Given the description of an element on the screen output the (x, y) to click on. 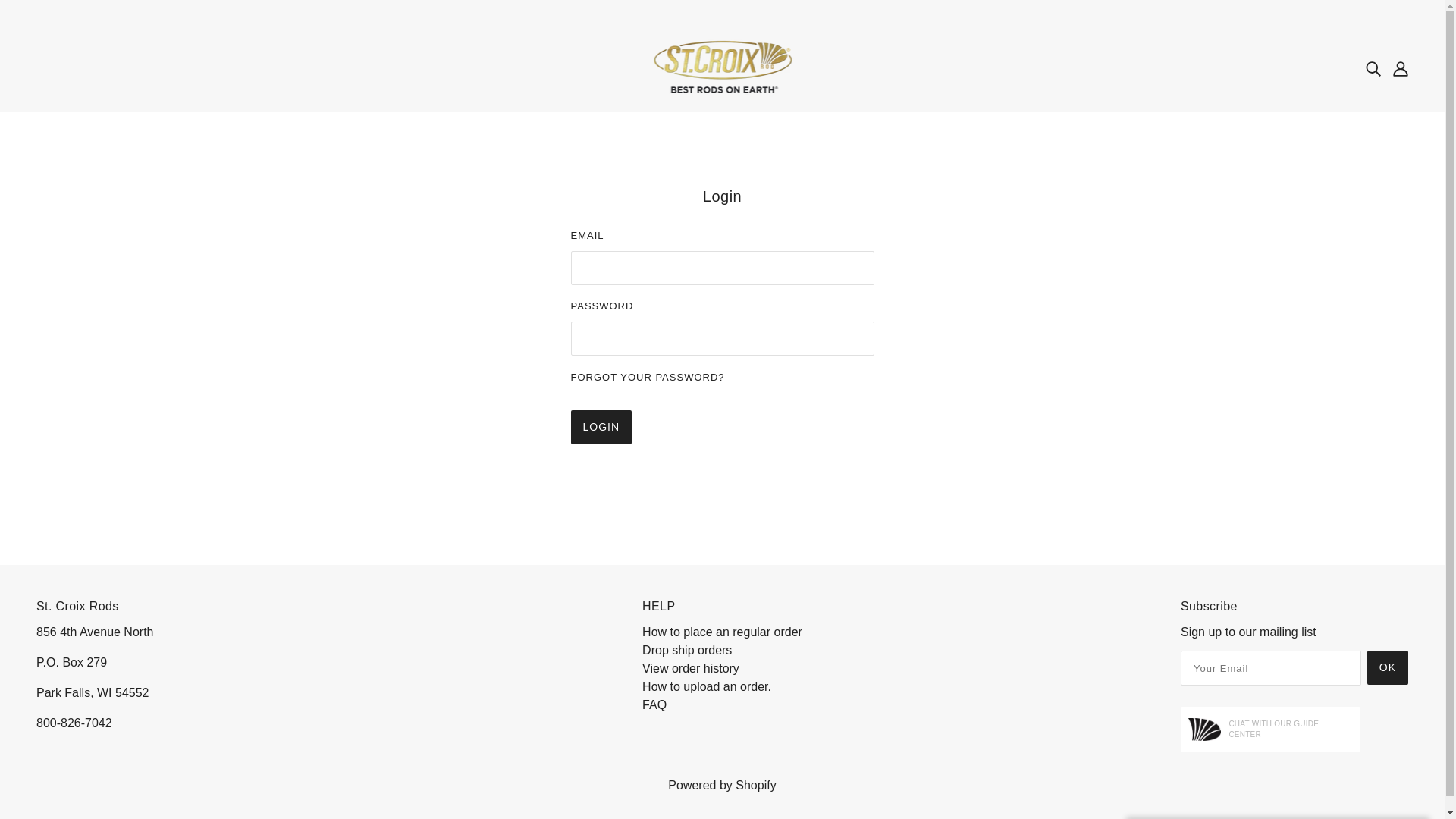
FAQ (654, 704)
St. Croix Rods - Dealer (722, 66)
View order history (690, 667)
How to place an regular order (722, 631)
How to upload an order. (706, 686)
Drop ship orders (687, 649)
